Given the description of an element on the screen output the (x, y) to click on. 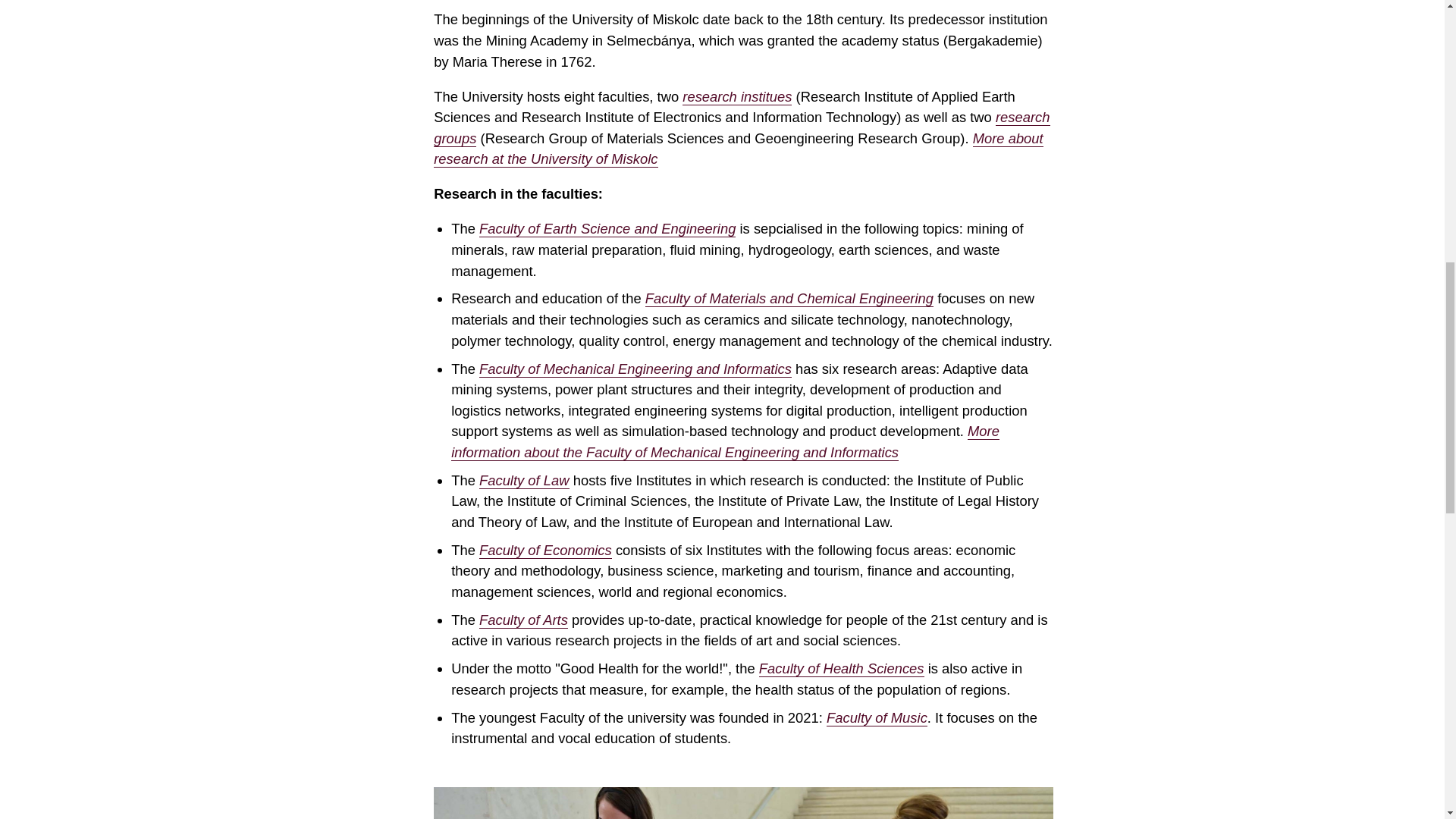
Faculty of Mechanical Engineering and Informatics (635, 369)
Faculty of Law (524, 480)
More about research at the University of Miskolc (738, 149)
Faculty of Economics (545, 550)
Faculty of Music (877, 718)
Faculty of Materials and Chemical Engineering (789, 298)
Faculty of Arts (523, 619)
research institues (737, 96)
research groups (741, 127)
Faculty of Health Sciences (841, 668)
Faculty of Earth Science and Engineering (607, 228)
